Given the description of an element on the screen output the (x, y) to click on. 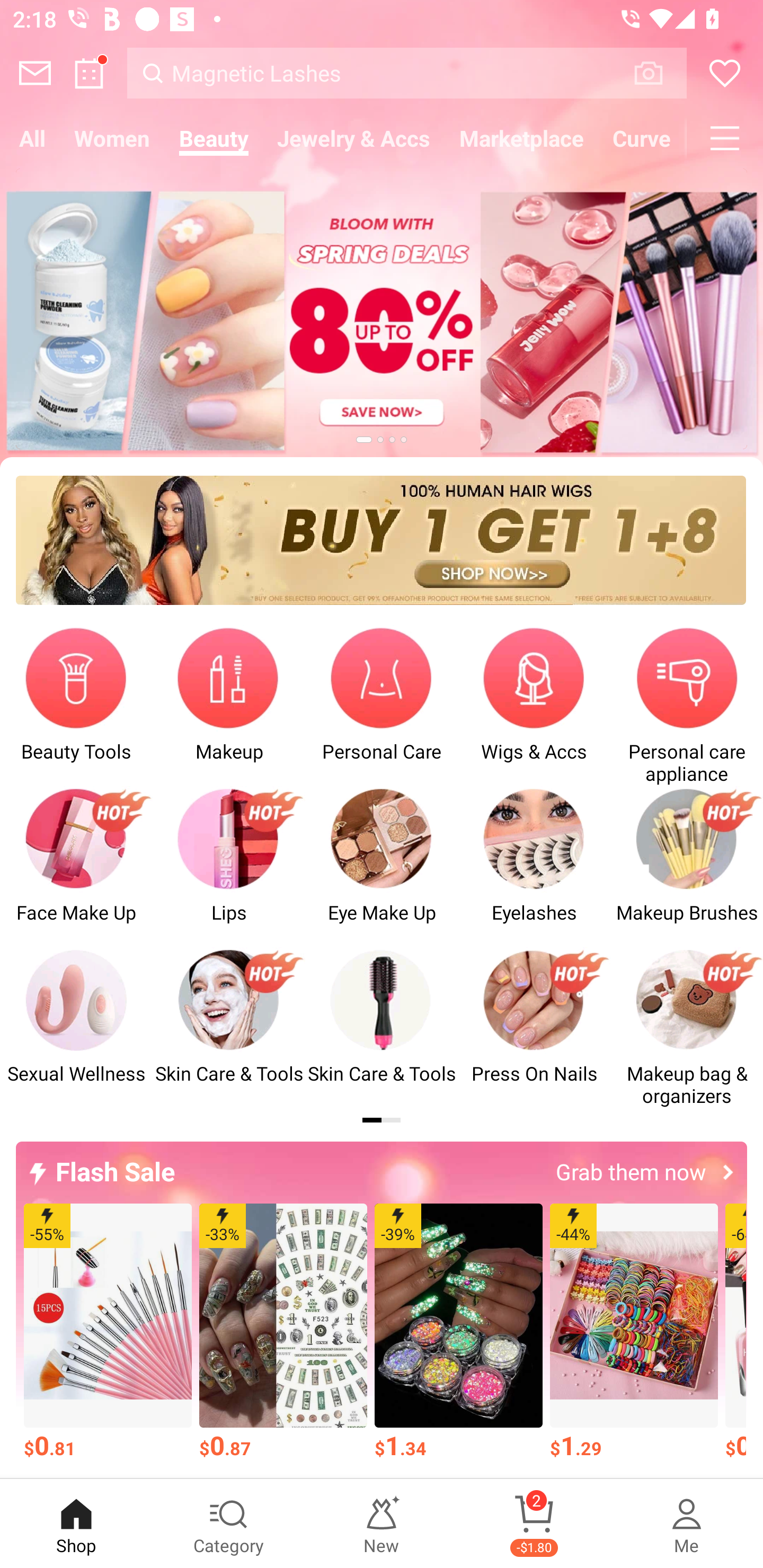
Wishlist (724, 72)
VISUAL SEARCH (657, 72)
All (31, 137)
Women (111, 137)
Beauty (213, 137)
Jewelry & Accs (353, 137)
Marketplace (521, 137)
Curve (641, 137)
Beauty Tools (76, 705)
Makeup (228, 705)
Personal Care (381, 705)
Wigs & Accs (533, 705)
Personal care appliance (686, 705)
Face Make Up (76, 866)
Lips (228, 866)
Eye Make Up (381, 866)
Eyelashes (533, 866)
Makeup Brushes (686, 866)
Sexual Wellness (76, 1027)
Skin Care & Tools (228, 1027)
Skin Care & Tools (381, 1027)
Press On Nails (533, 1027)
Makeup bag & organizers (686, 1027)
Category (228, 1523)
New (381, 1523)
Cart 2 -$1.80 (533, 1523)
Me (686, 1523)
